Given the description of an element on the screen output the (x, y) to click on. 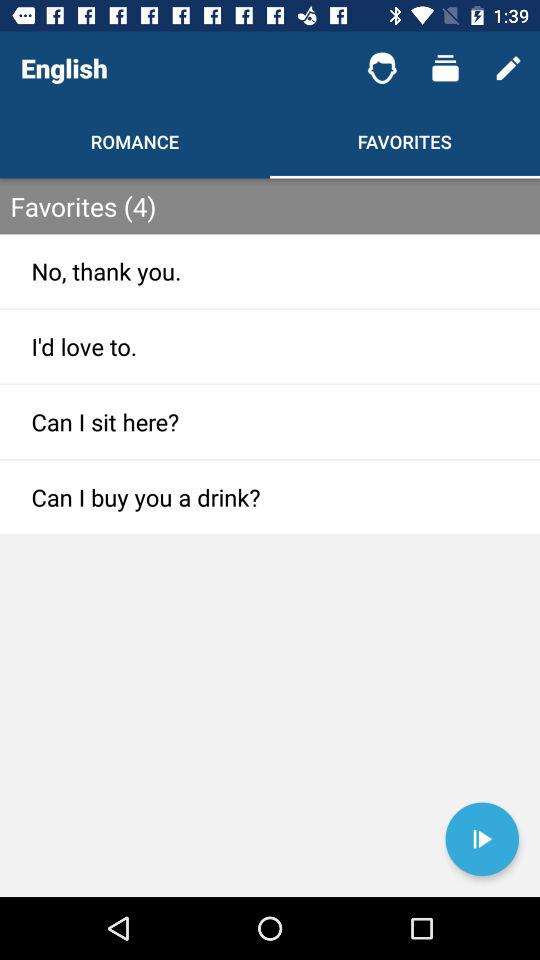
turn off the item above favorites (4) icon (508, 67)
